Given the description of an element on the screen output the (x, y) to click on. 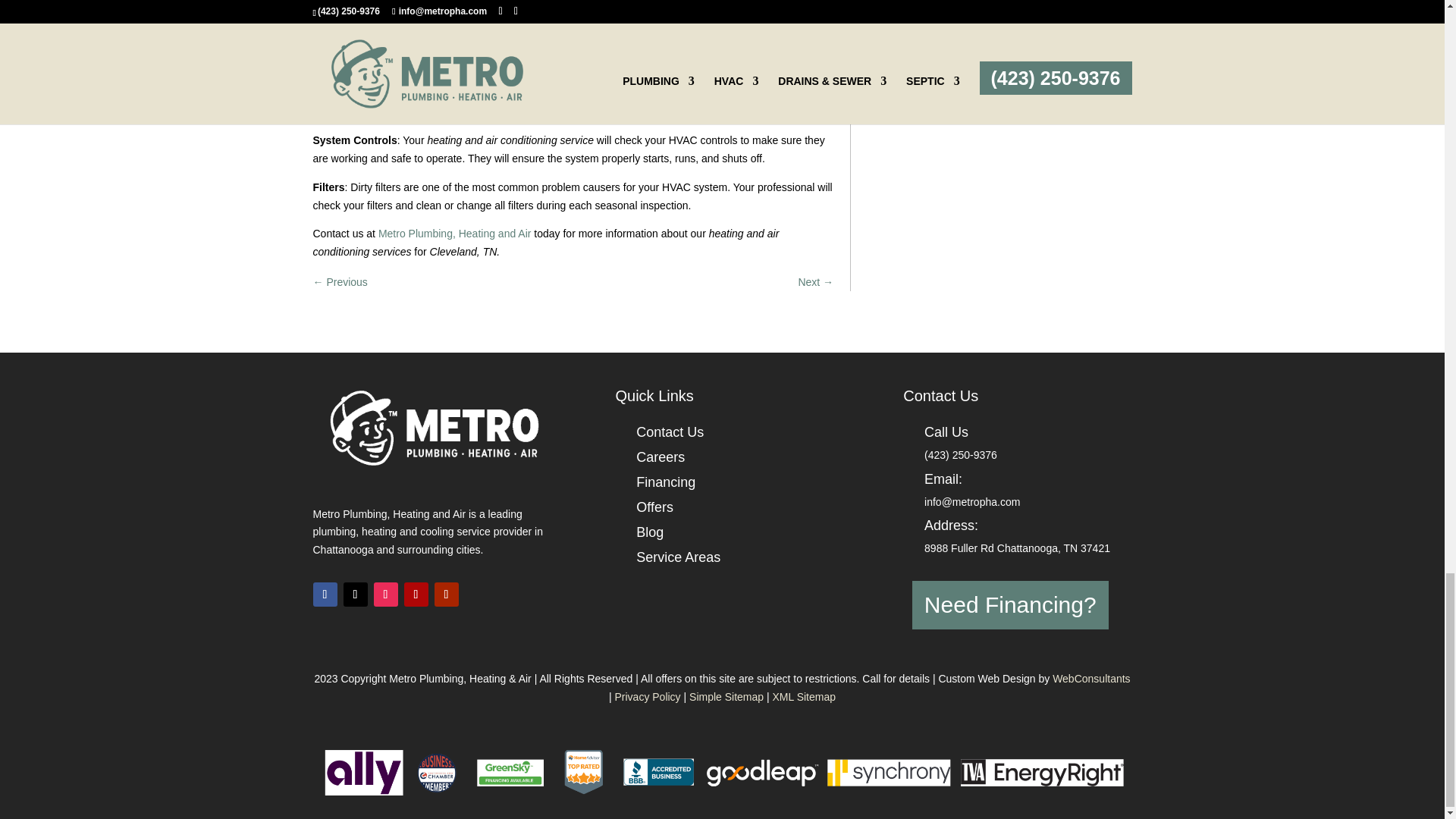
Follow on Instagram (384, 594)
Follow on X (354, 594)
Metropha White Logo (433, 428)
Follow on Facebook (324, 594)
Follow on Yelp (415, 594)
Follow on Youtube (445, 594)
